Given the description of an element on the screen output the (x, y) to click on. 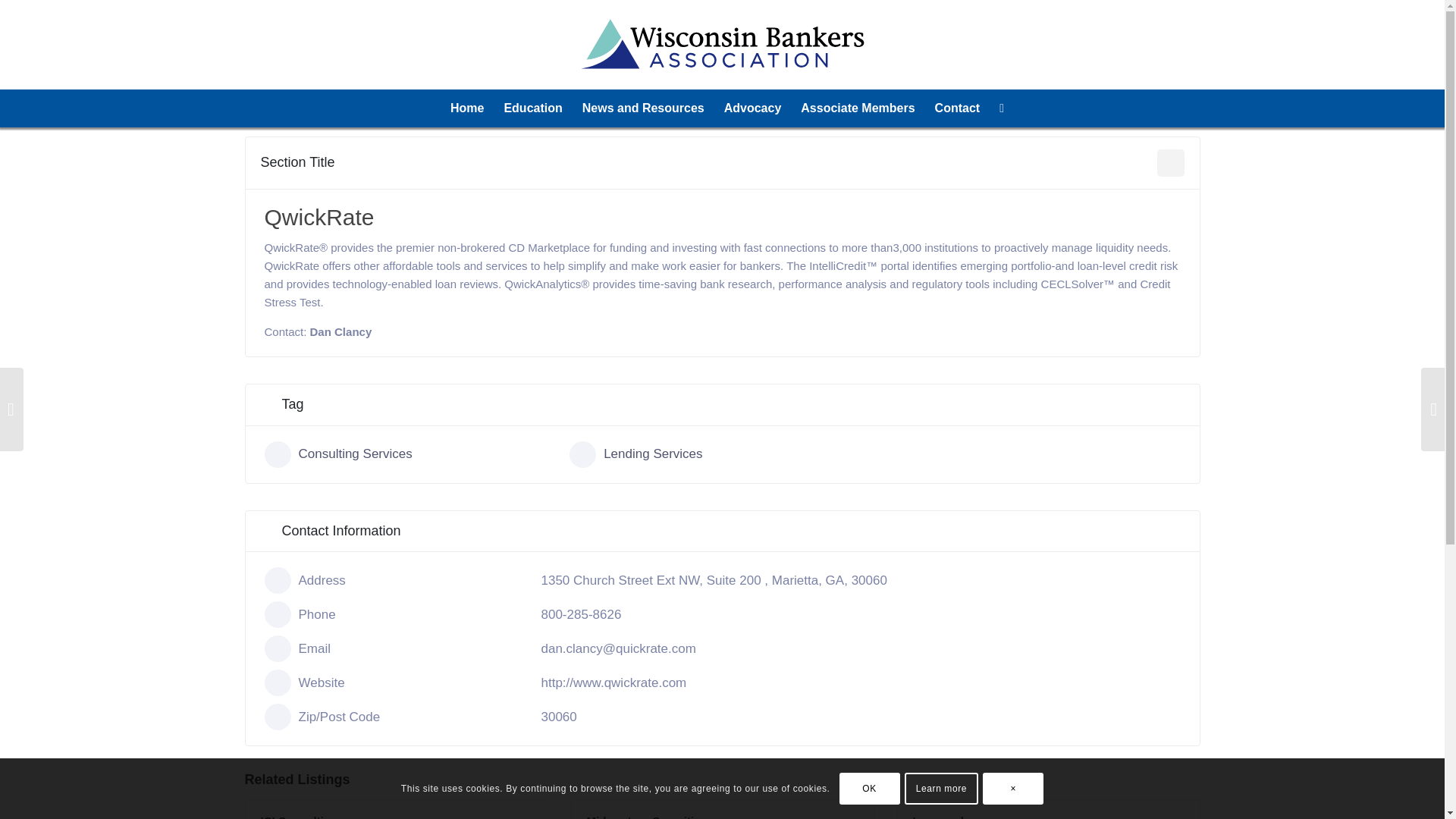
Home (467, 108)
Associate Members (857, 108)
Wisconsin Banking Industry Vendors (857, 108)
Banking Industry Education (532, 108)
Consulting Services (416, 454)
Banking News and Resources (643, 108)
Contact (957, 108)
Wisconsin-Bankers-Association-logo (722, 44)
ICI Consulting (298, 816)
Wisconsin Bank Industry Advocacy (753, 108)
Lending Services (722, 454)
Education (532, 108)
800-285-8626 (581, 614)
Wisconsin-Bankers-Association-logo (722, 44)
Wisconsin Bankers Association (467, 108)
